Given the description of an element on the screen output the (x, y) to click on. 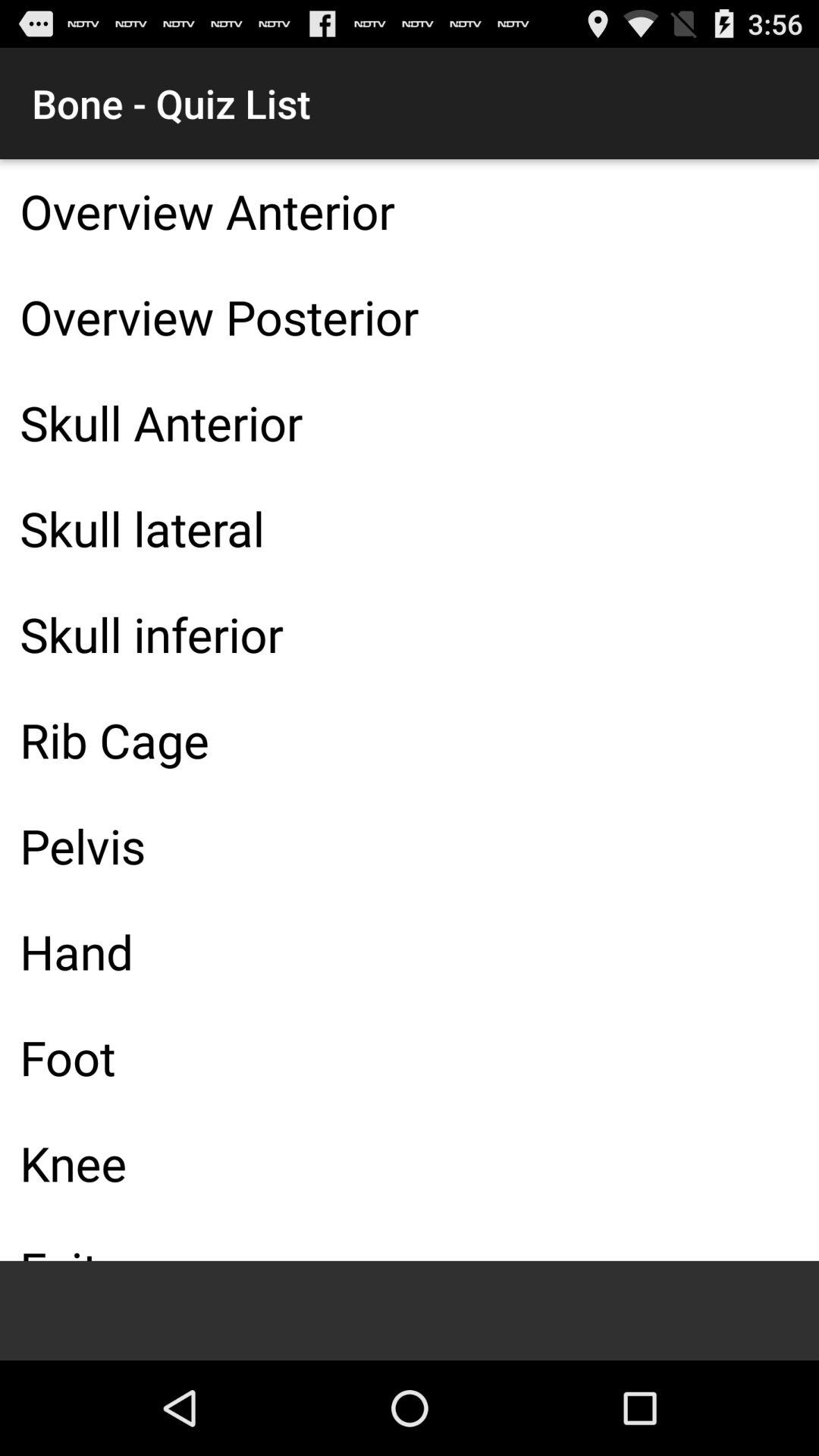
turn on the icon below the knee (409, 1238)
